Given the description of an element on the screen output the (x, y) to click on. 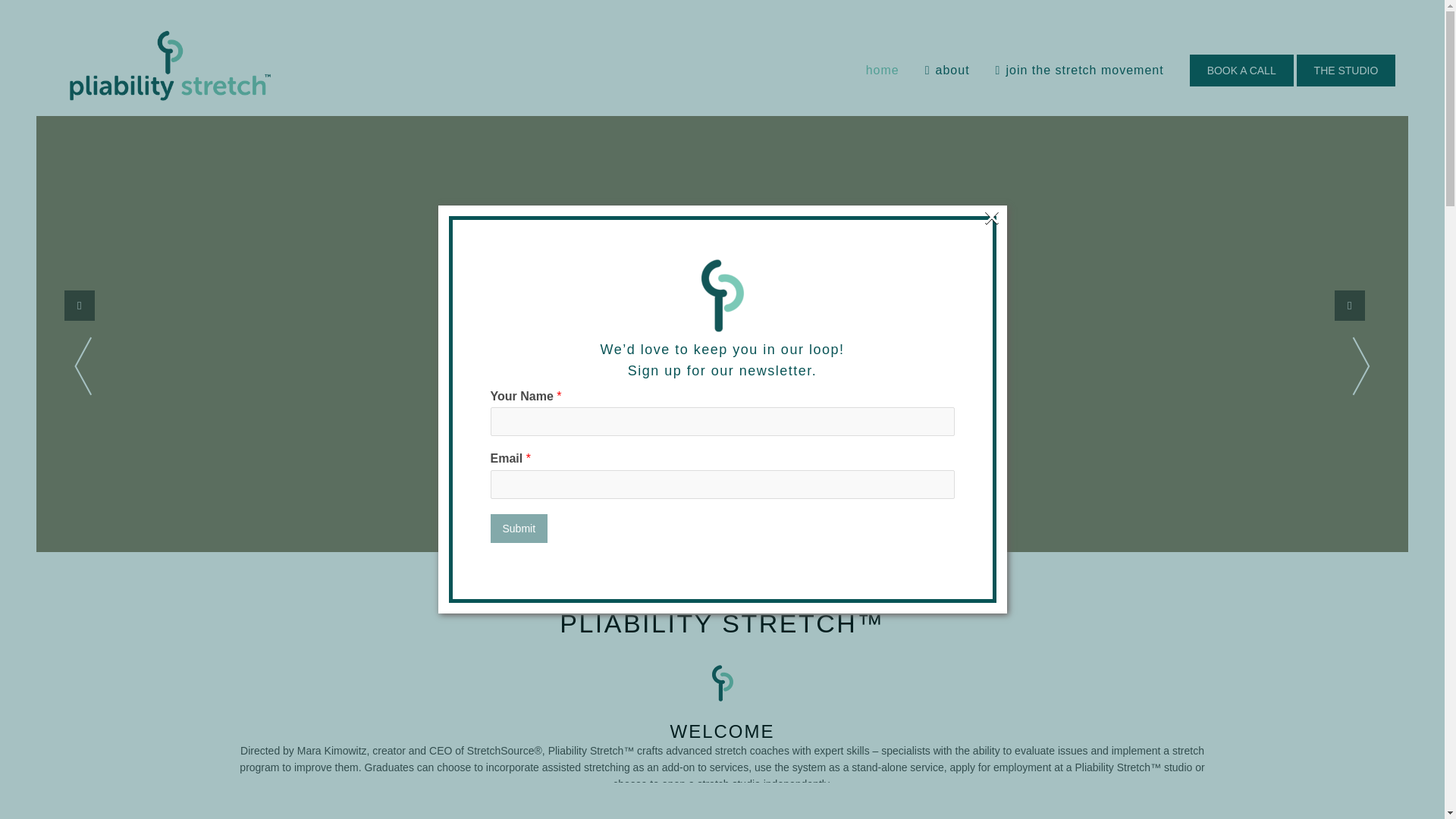
THE STUDIO (1346, 70)
join the stretch movement (1079, 70)
FIND OUT MORE (721, 445)
BOOK A CALL (1241, 70)
